Given the description of an element on the screen output the (x, y) to click on. 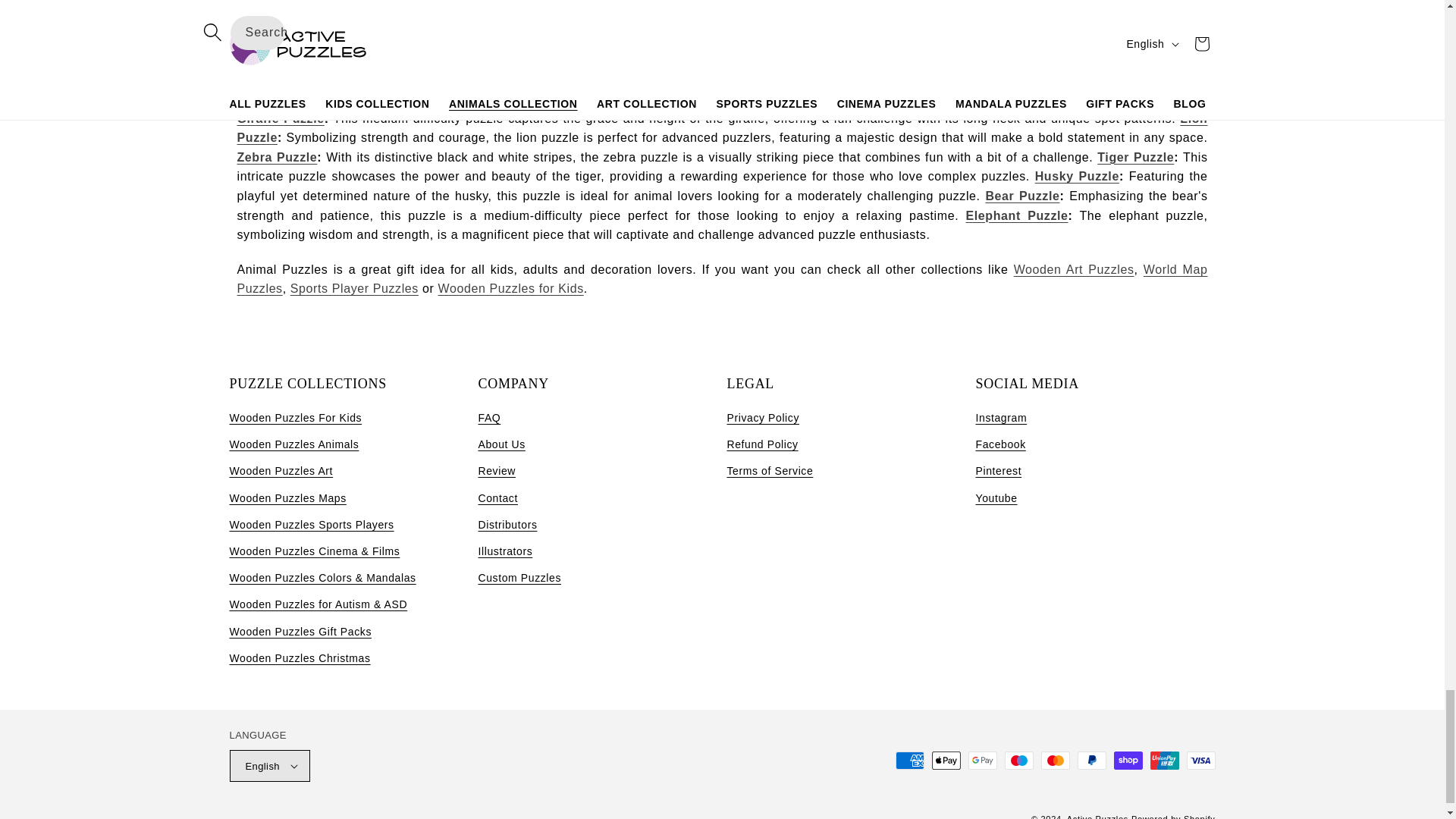
Multicolor Lion Wooden Puzzle (721, 128)
Wooden Maps Puzzles (721, 278)
Wooden Puzzles For Kids (510, 287)
Elephant 37 x 33 Wooden Puzzle (1017, 215)
Giraffe Wooden Puzzle (279, 118)
Wooden Art Puzzles (1073, 269)
Husky Wooden Puzzle (1077, 175)
Zebra Wooden Puzzle (276, 156)
How to glue and frame a puzzle (903, 63)
Wooden Puzzles Sports Players (354, 287)
